Given the description of an element on the screen output the (x, y) to click on. 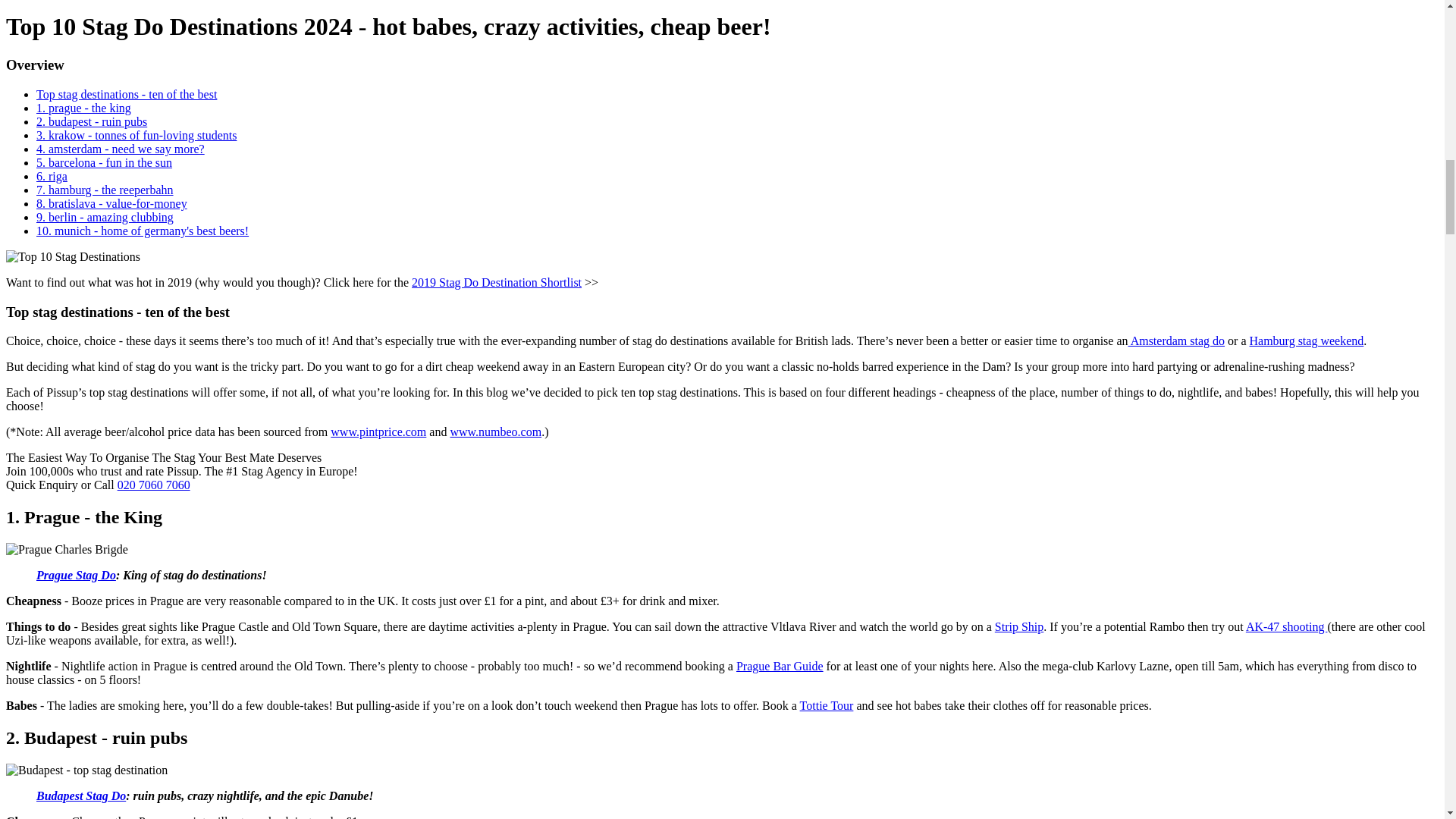
1. prague - the king (83, 107)
www.numbeo.com (495, 431)
3. krakow - tonnes of fun-loving students (135, 134)
Top stag destinations - ten of the best (126, 93)
5. barcelona - fun in the sun (103, 162)
Tottie Tour (826, 705)
AK-47 shooting  (1286, 626)
Prague Stag Do (76, 574)
7. hamburg - the reeperbahn (104, 189)
10. munich - home of germany's best beers! (142, 230)
Strip Ship (1018, 626)
2. budapest - ruin pubs (91, 121)
020 7060 7060 (153, 484)
4. amsterdam - need we say more? (120, 148)
8. bratislava - value-for-money (111, 203)
